Given the description of an element on the screen output the (x, y) to click on. 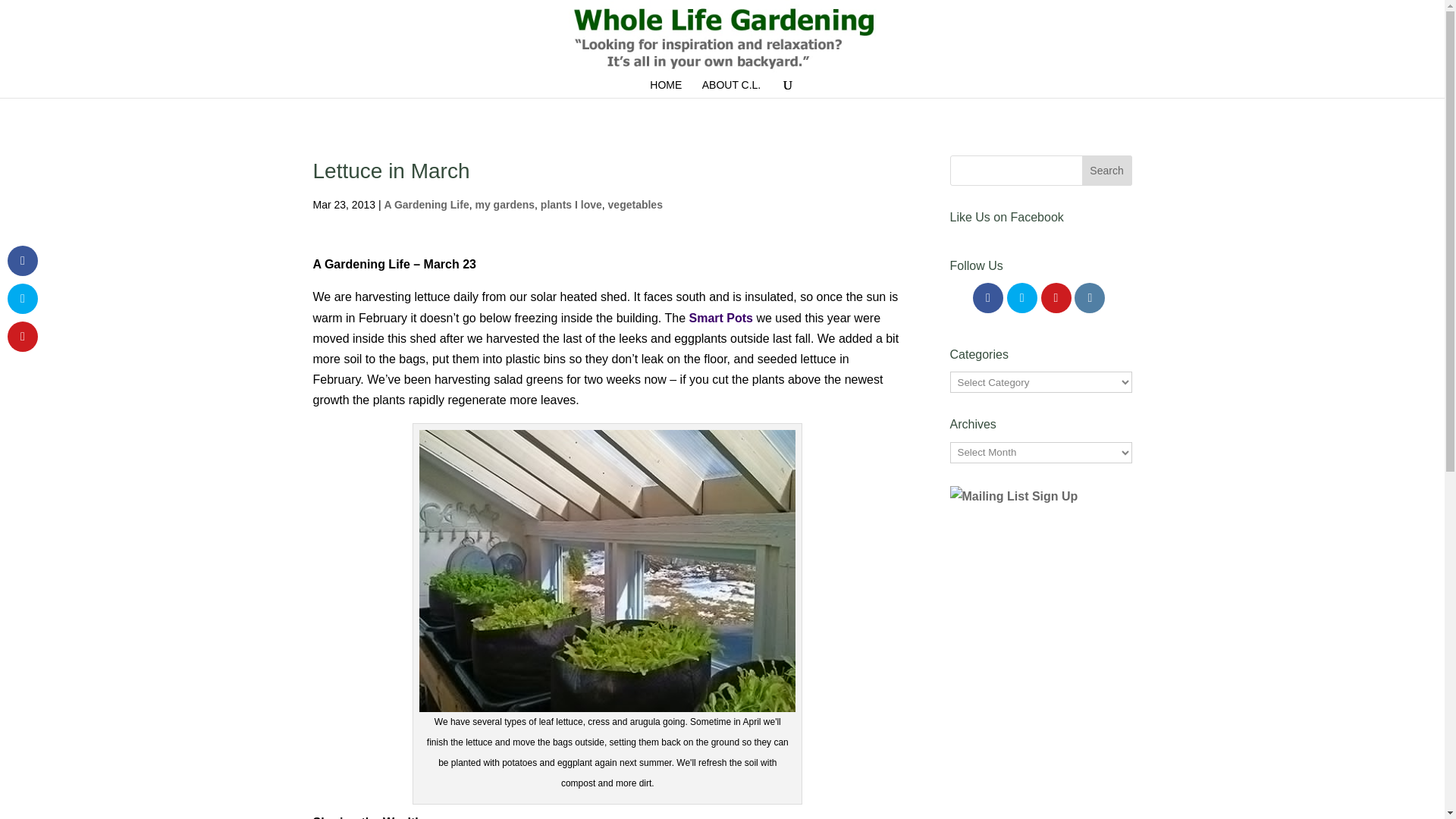
HOME (665, 88)
SAMSUNG (606, 570)
vegetables (635, 204)
ABOUT C.L. (731, 88)
Search (1106, 170)
my gardens (504, 204)
Mailing List Sign Up (1023, 542)
A Gardening Life (426, 204)
Search (1106, 170)
plants I love (571, 204)
Smart Pots (721, 318)
